Given the description of an element on the screen output the (x, y) to click on. 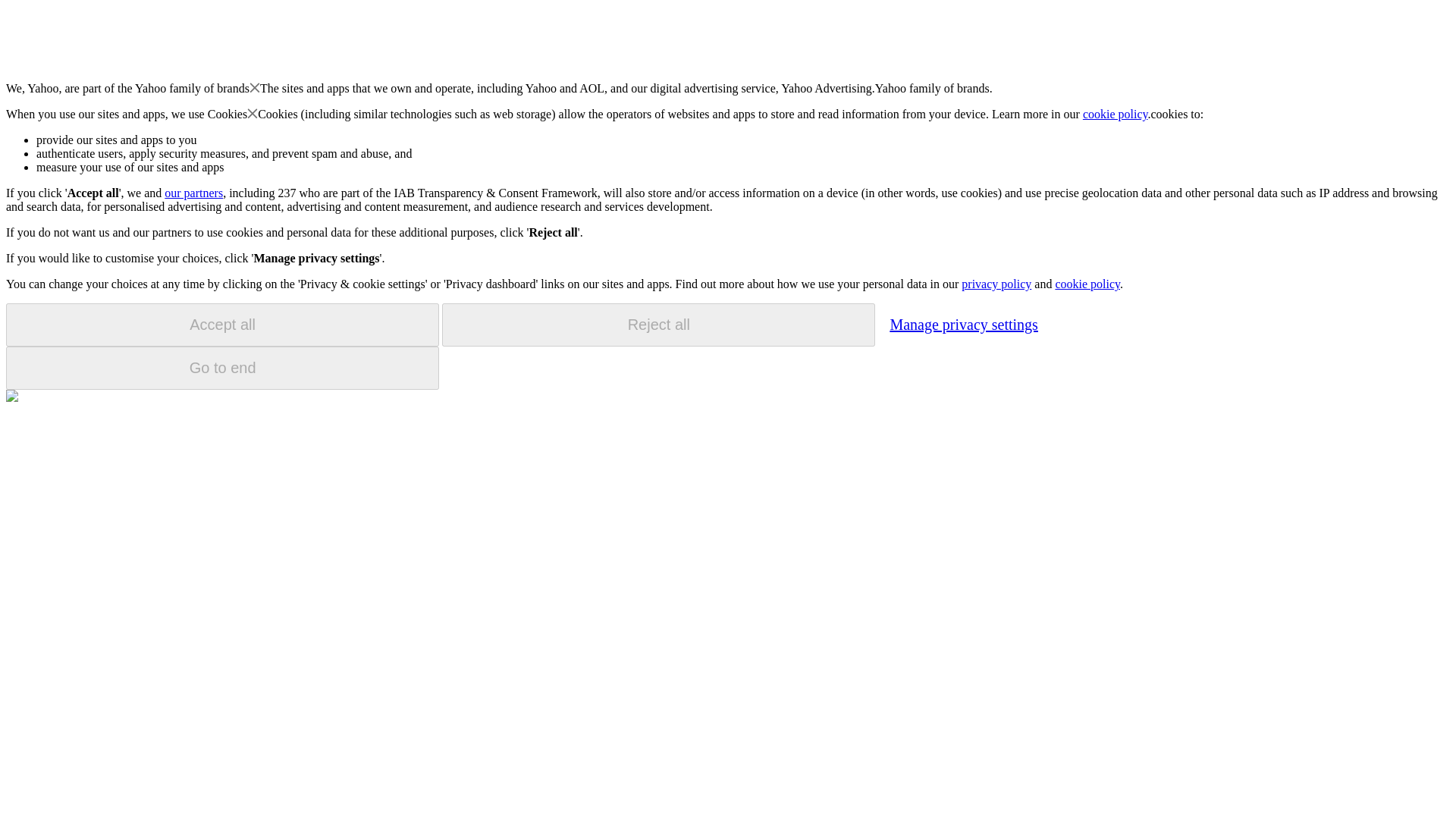
Manage privacy settings (963, 323)
our partners (193, 192)
Reject all (658, 324)
Go to end (222, 367)
Accept all (222, 324)
privacy policy (995, 283)
cookie policy (1086, 283)
cookie policy (1115, 113)
